Given the description of an element on the screen output the (x, y) to click on. 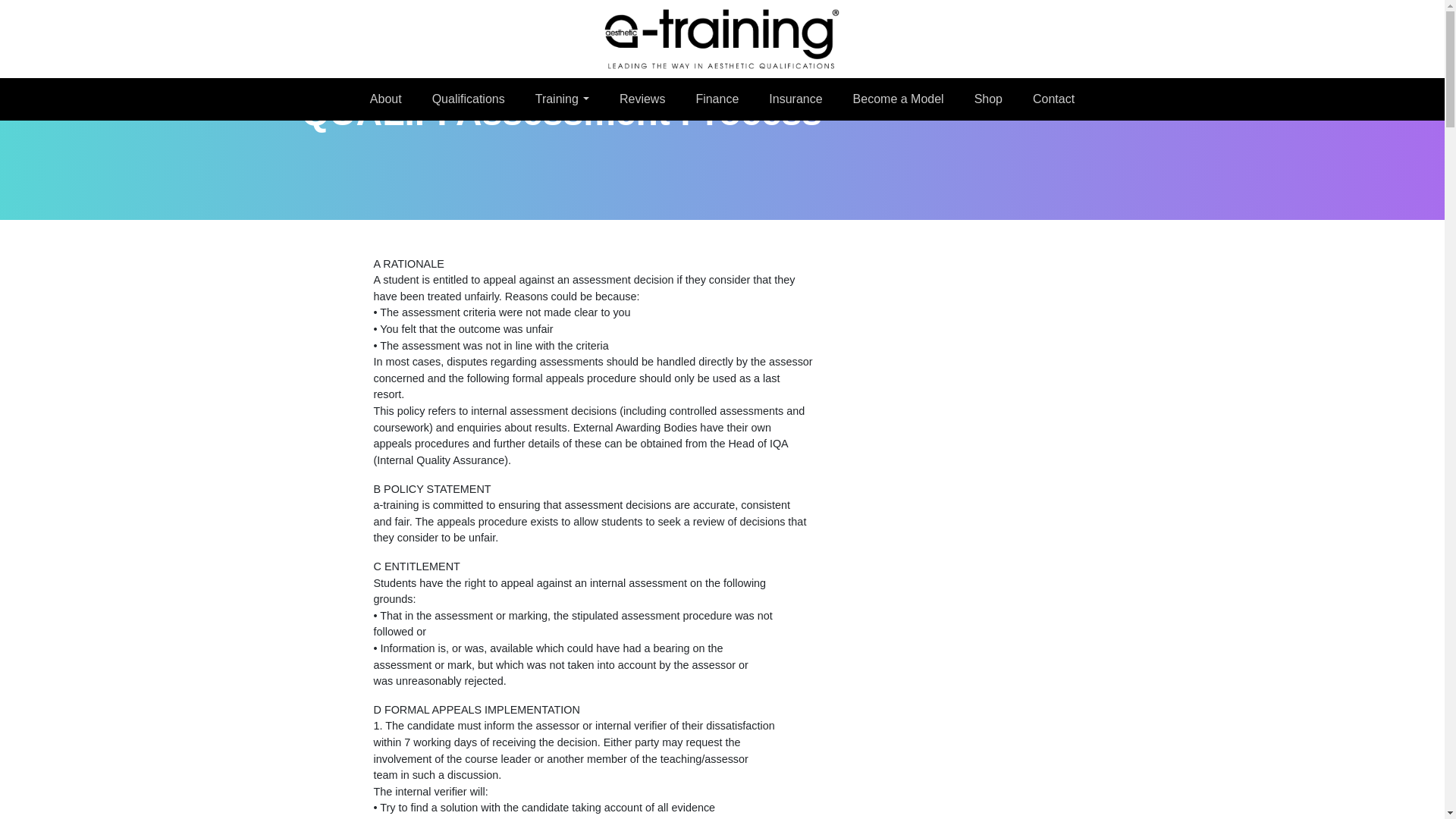
Reviews (641, 99)
Training (562, 99)
Contact (1053, 99)
Finance (716, 99)
Advice (988, 99)
Shop (988, 99)
Become a Model (898, 99)
Training Qualifications (468, 99)
Contact Us (1053, 99)
About (385, 99)
Reviews (641, 99)
Advice (716, 99)
Qualifications (468, 99)
Advice (898, 99)
Advice (795, 99)
